Given the description of an element on the screen output the (x, y) to click on. 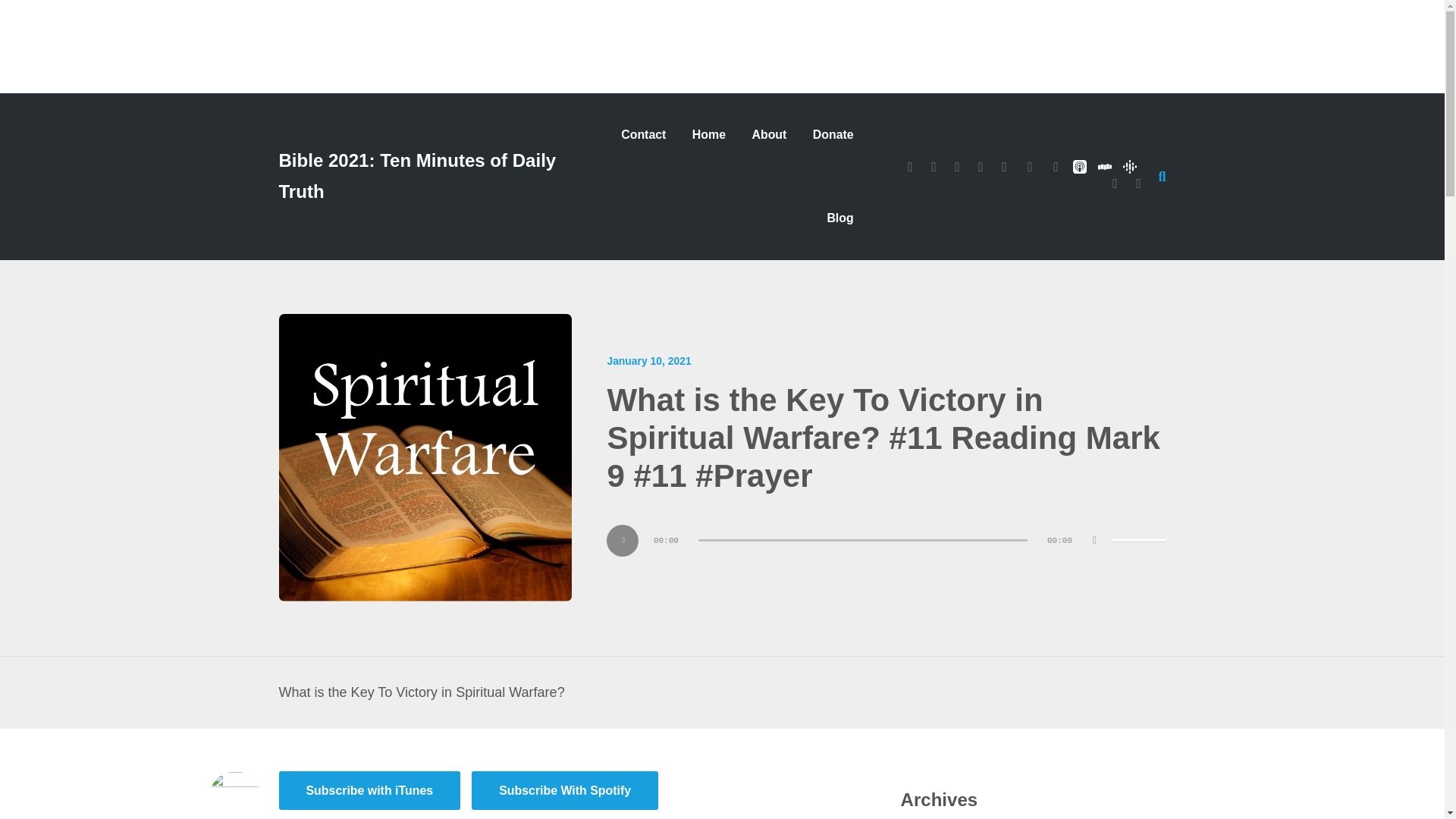
Subscribe With Spotify (564, 790)
Play (623, 540)
Subscribe with iTunes (370, 790)
Bible 2021:  Ten Minutes of Daily Truth (429, 176)
Bible 2021: Ten Minutes of Daily Truth (429, 176)
